Given the description of an element on the screen output the (x, y) to click on. 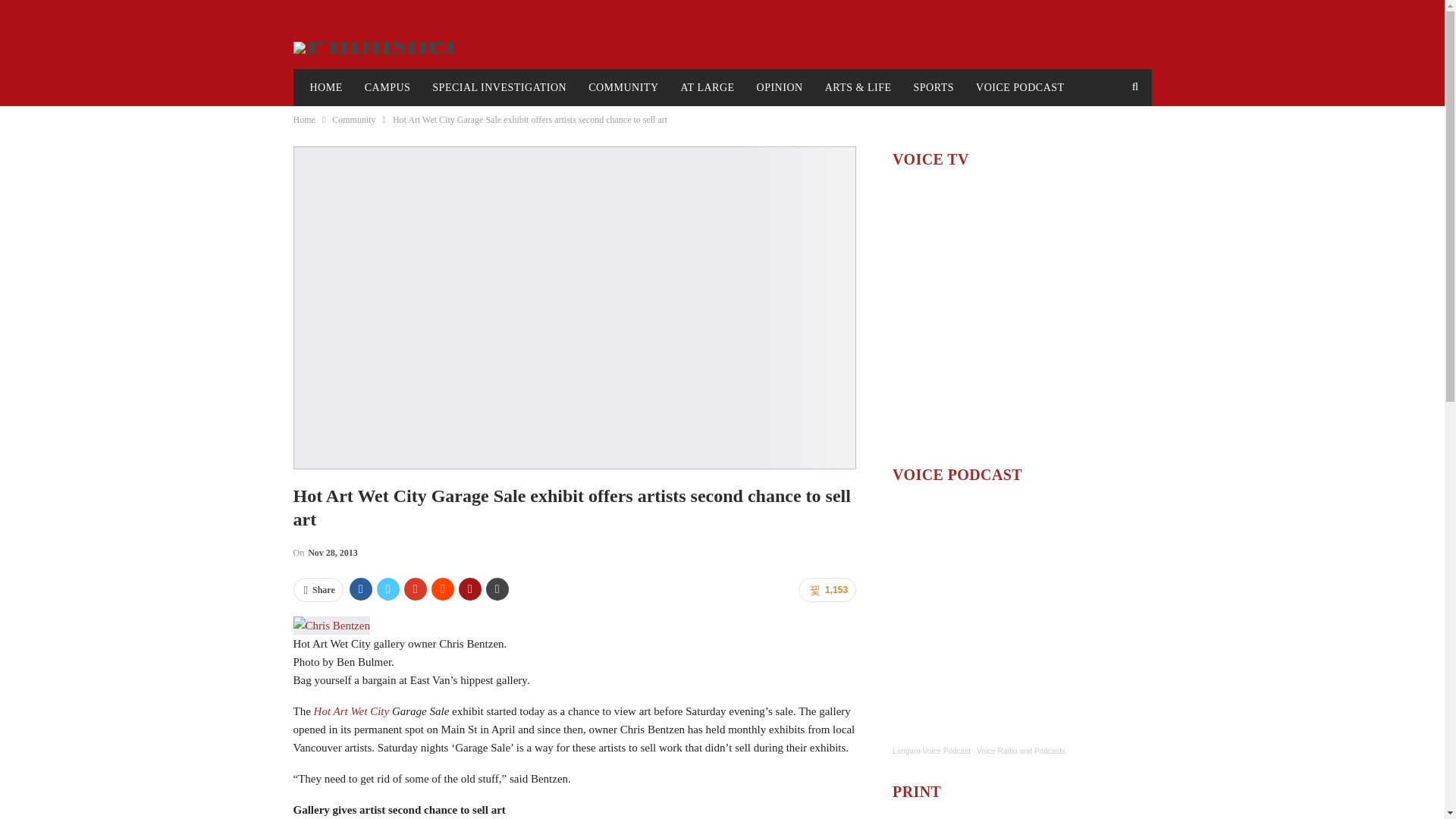
Home (303, 119)
Hot Art Wet City (352, 711)
Voice Radio and Podcasts (1020, 750)
SPORTS (933, 87)
Community (353, 119)
HOME (324, 87)
Langara Voice Podcast (931, 750)
SPECIAL INVESTIGATION (499, 87)
VOICE PODCAST (1020, 87)
CAMPUS (387, 87)
OPINION (780, 87)
AT LARGE (707, 87)
YouTube video player (1021, 315)
COMMUNITY (622, 87)
